Given the description of an element on the screen output the (x, y) to click on. 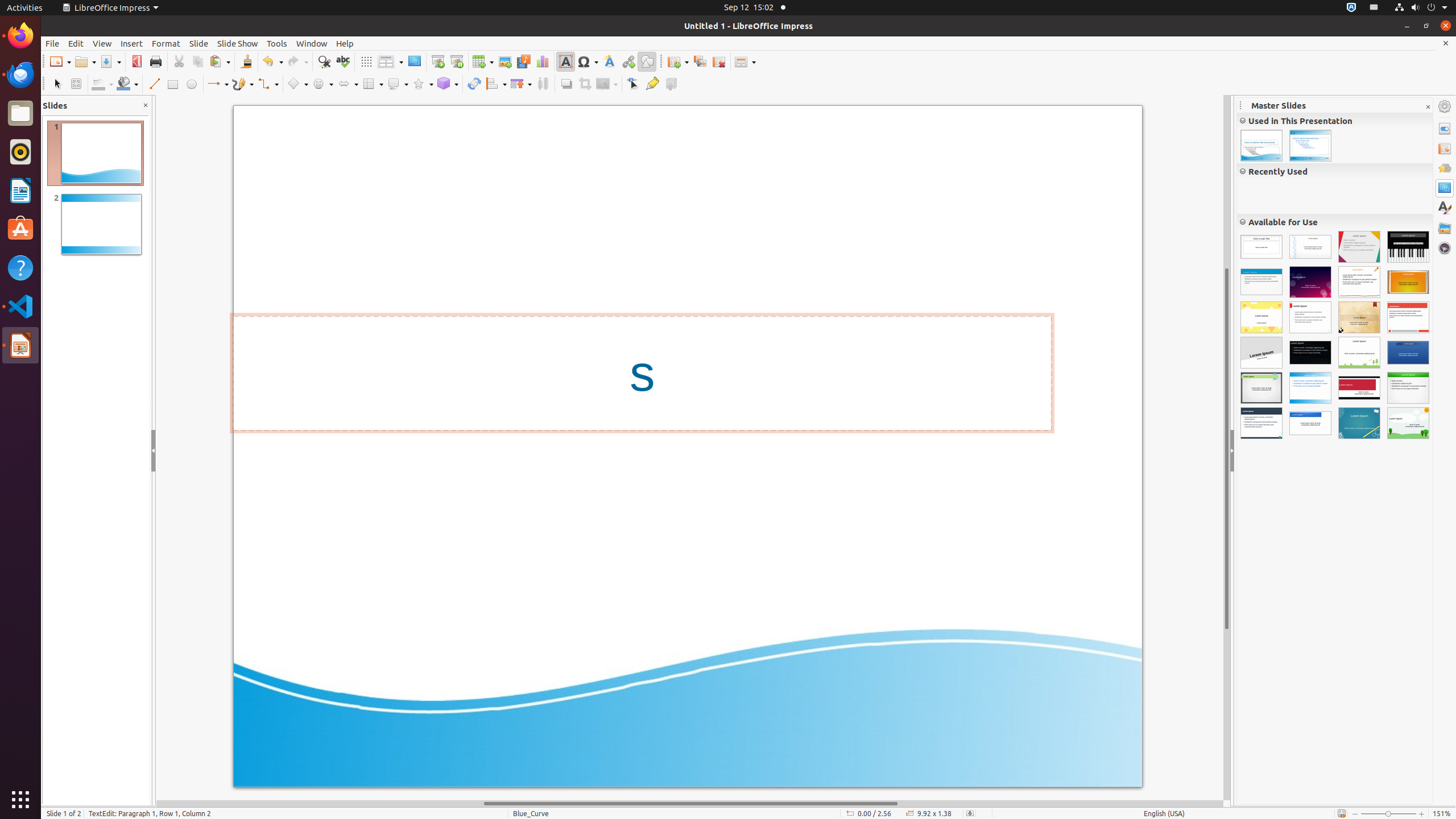
Symbol Element type: push-button (587, 61)
New Slide Element type: push-button (677, 61)
Files Element type: push-button (20, 113)
Chart Element type: push-button (541, 61)
Sunset Element type: list-item (1407, 281)
